Given the description of an element on the screen output the (x, y) to click on. 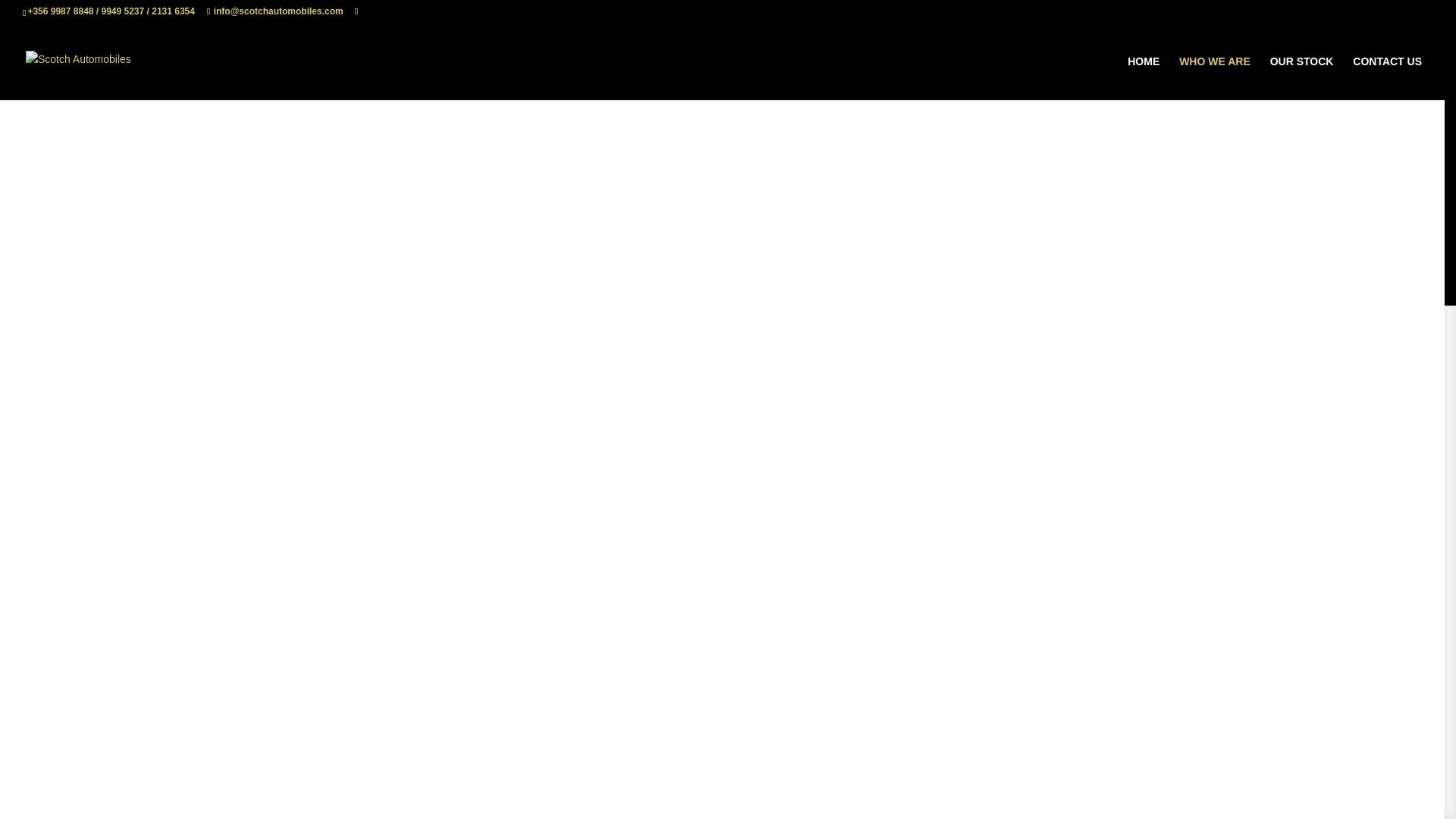
CONTACT US (1387, 77)
OUR STOCK (1301, 77)
WHO WE ARE (1214, 77)
